Given the description of an element on the screen output the (x, y) to click on. 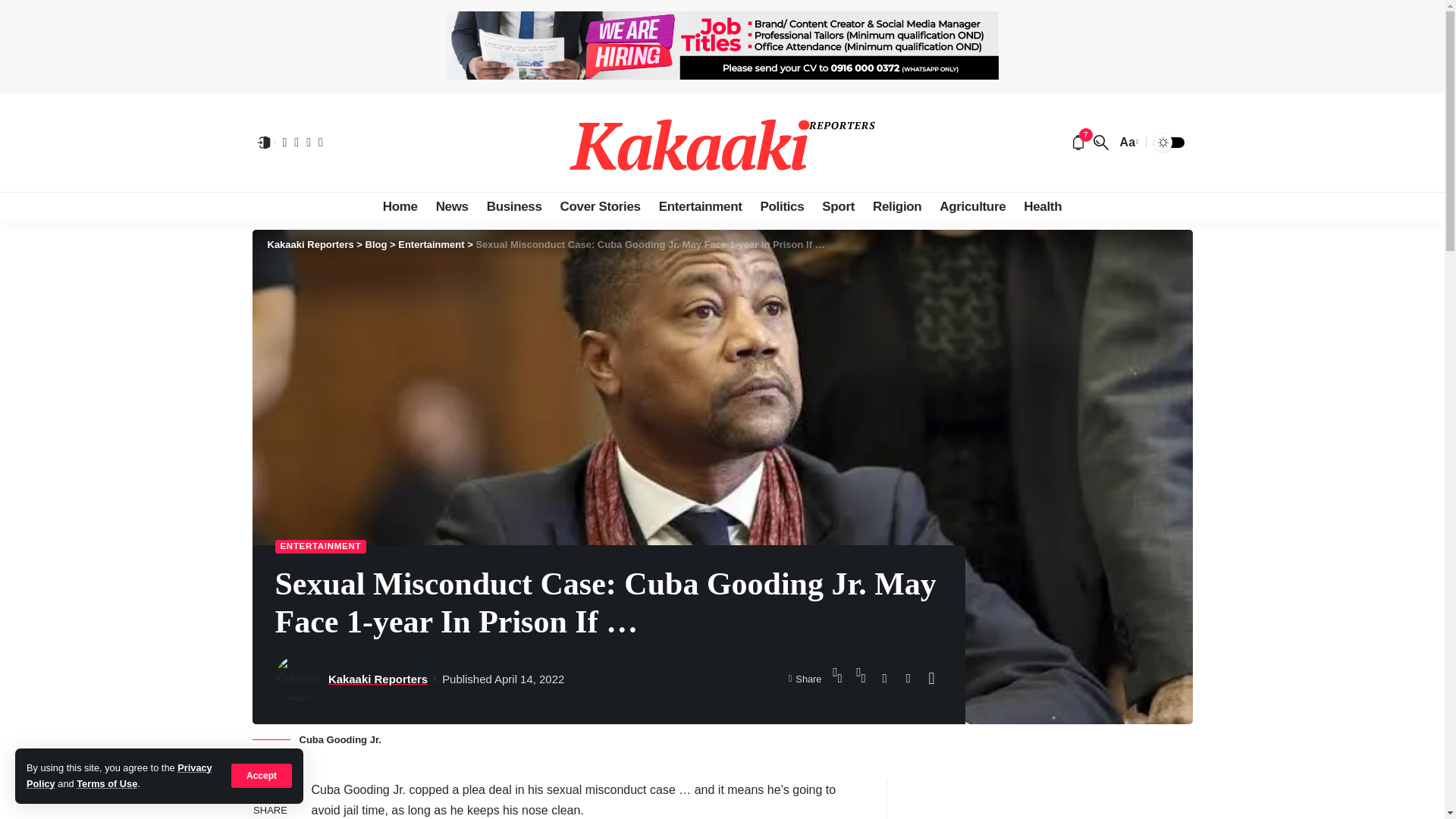
Home (400, 206)
Business (514, 206)
Go to the Entertainment Category archives. (430, 244)
7 (1078, 142)
Kakaaki Reporters (721, 142)
Accept (261, 775)
Go to Blog. (376, 244)
News (451, 206)
Cover Stories (600, 206)
Terms of Use (106, 783)
Aa (1127, 141)
Privacy Policy (119, 775)
Go to Kakaaki Reporters. (309, 244)
